Given the description of an element on the screen output the (x, y) to click on. 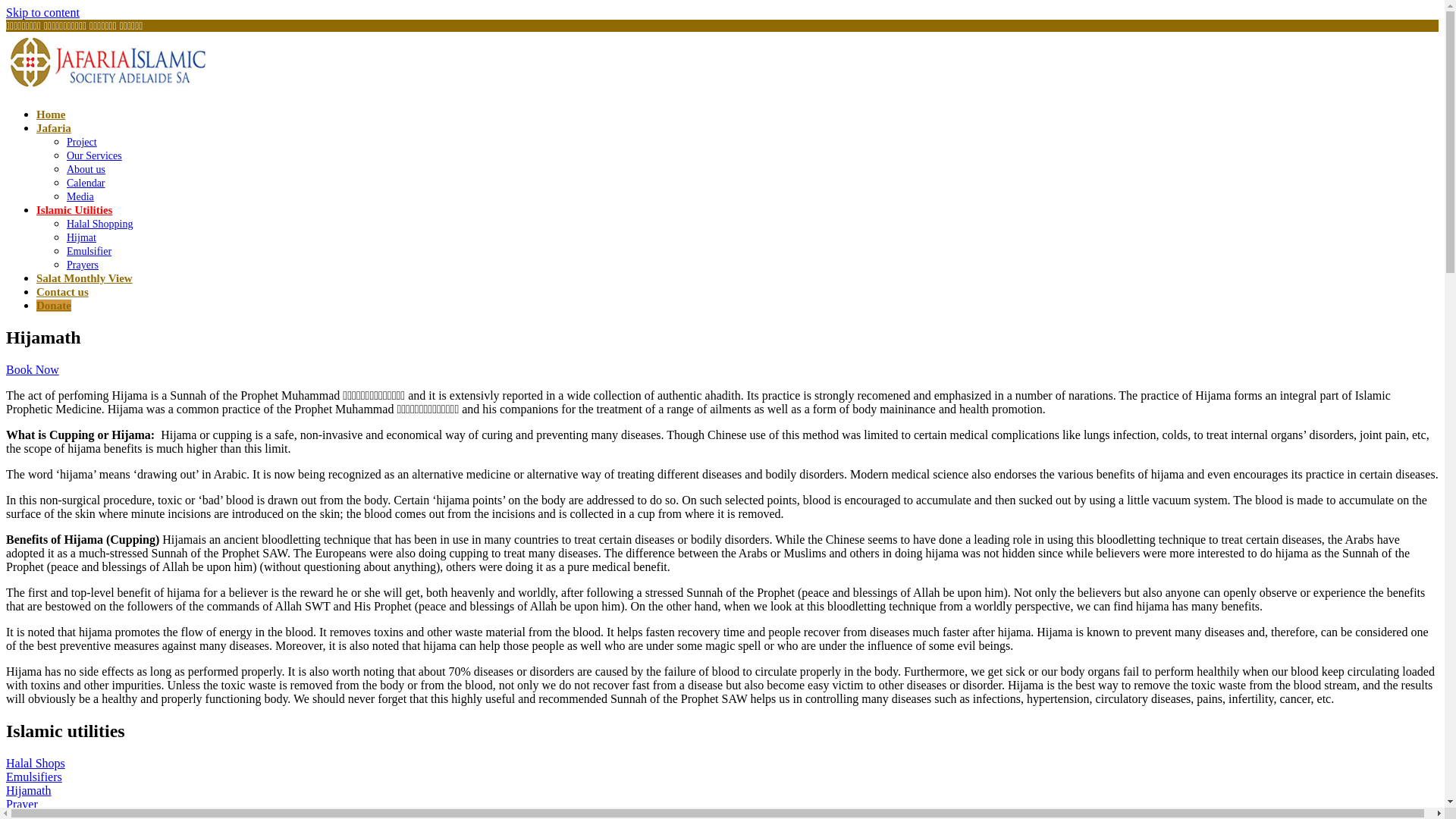
Emulsifiers Element type: text (34, 776)
Hijmat Element type: text (81, 237)
Prayer Element type: text (21, 803)
Salat Monthly View Element type: text (84, 278)
Donate Element type: text (53, 305)
Halal Shopping Element type: text (99, 223)
Skip to content Element type: text (42, 12)
Our Services Element type: text (94, 155)
Media Element type: text (80, 196)
Emulsifier Element type: text (88, 251)
Halal Shops Element type: text (35, 762)
Home Element type: text (50, 114)
Book Now Element type: text (32, 369)
Hijamath Element type: text (28, 790)
Jafaria Element type: text (53, 128)
Calendar Element type: text (85, 182)
About us Element type: text (85, 169)
Prayers Element type: text (82, 264)
Contact us Element type: text (62, 291)
Islamic Utilities Element type: text (74, 209)
Project Element type: text (81, 141)
